Given the description of an element on the screen output the (x, y) to click on. 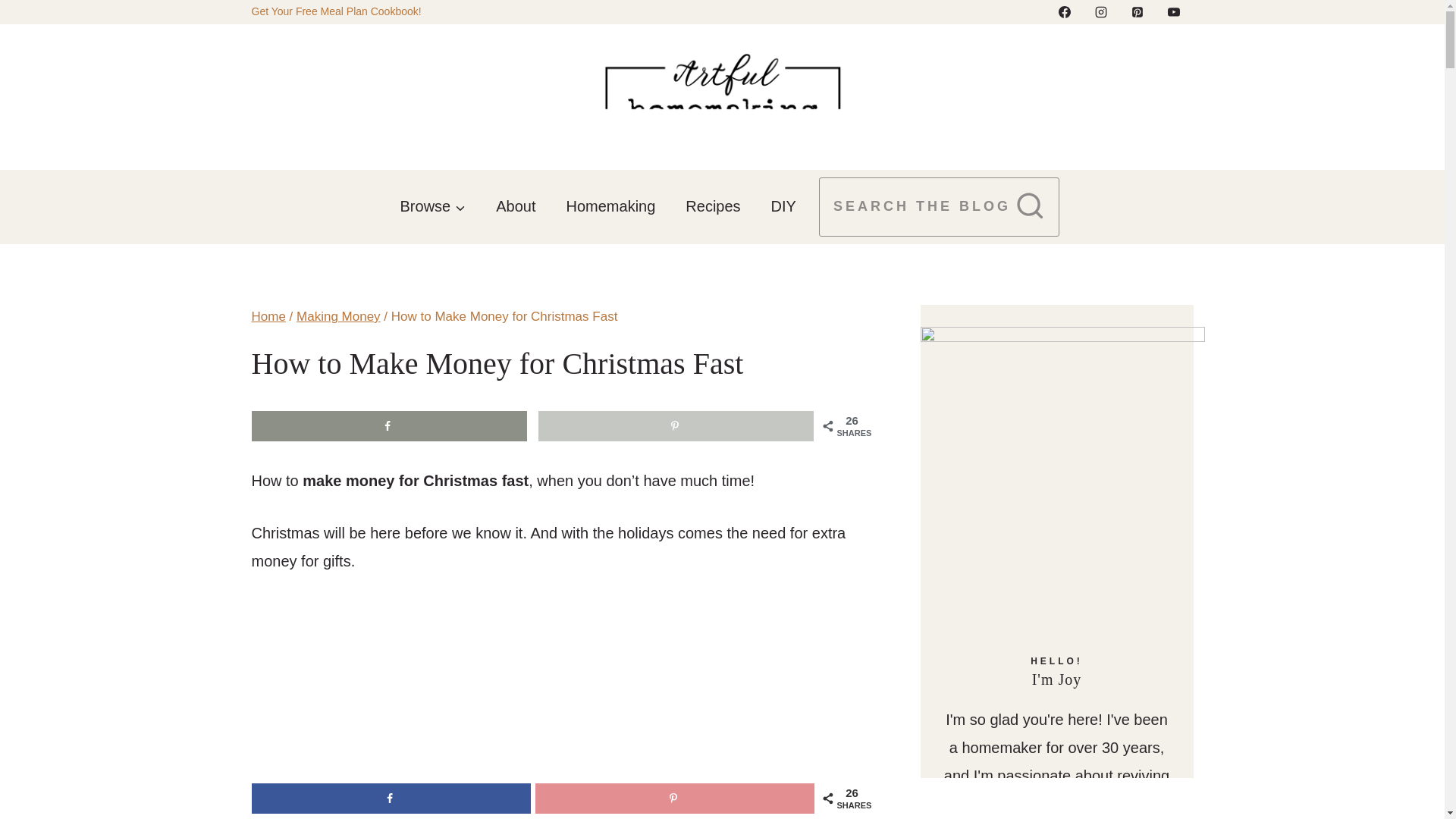
SEARCH THE BLOG (938, 207)
Get Your Free Meal Plan Cookbook! (336, 10)
About (515, 206)
Save to Pinterest (675, 426)
Making Money (338, 316)
Share on Facebook (389, 426)
Share on Facebook (391, 798)
Browse (433, 206)
Homemaking (609, 206)
Home (268, 316)
